Given the description of an element on the screen output the (x, y) to click on. 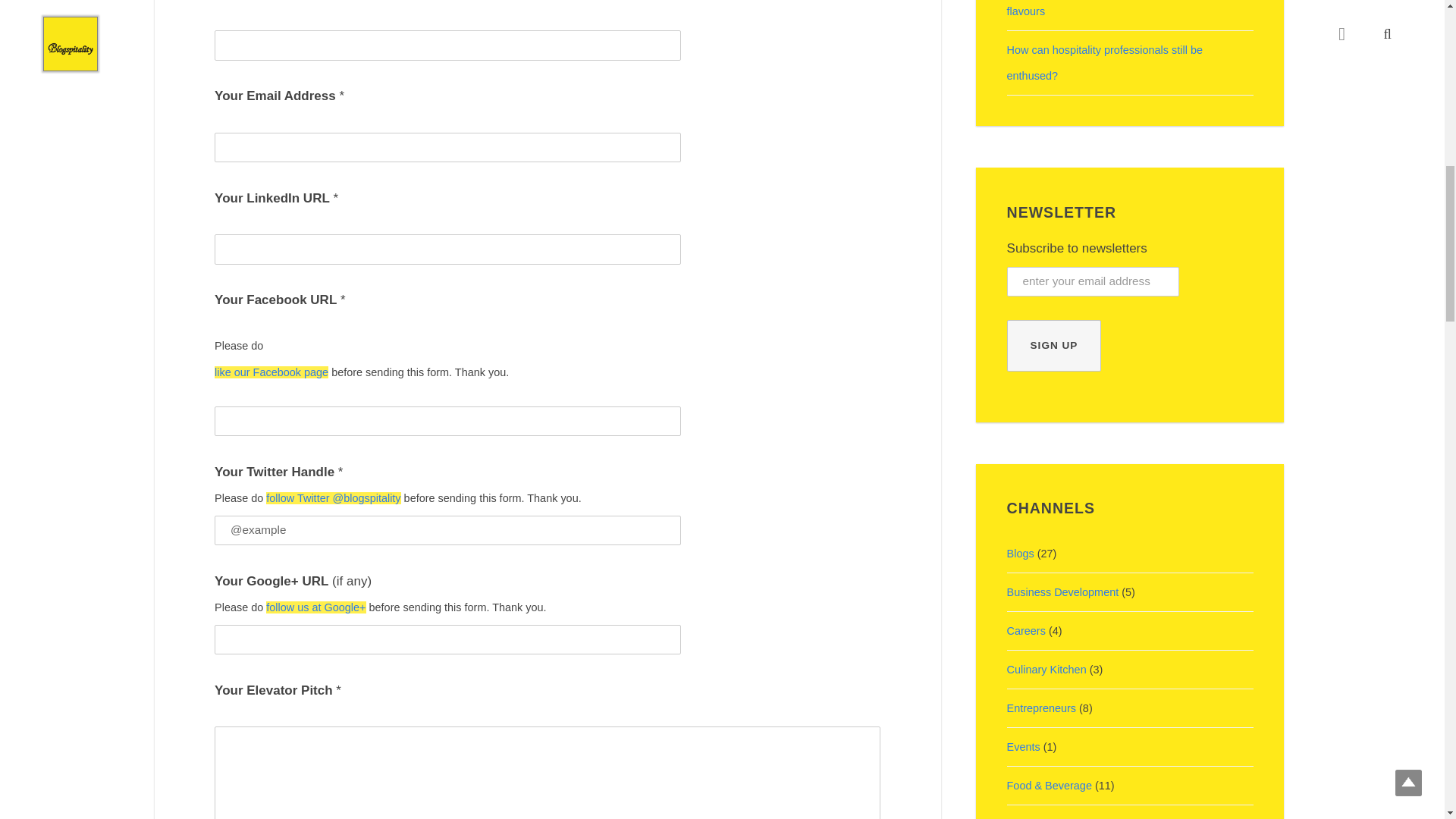
like our Facebook page (271, 372)
Culinary Kitchen (1046, 669)
Sign up (1054, 345)
Business Development (1063, 592)
Blogs (1020, 553)
How can hospitality professionals still be enthused? (1104, 62)
Careers (1026, 630)
Entrepreneurs (1042, 707)
Events (1024, 746)
Sign up (1054, 345)
